Given the description of an element on the screen output the (x, y) to click on. 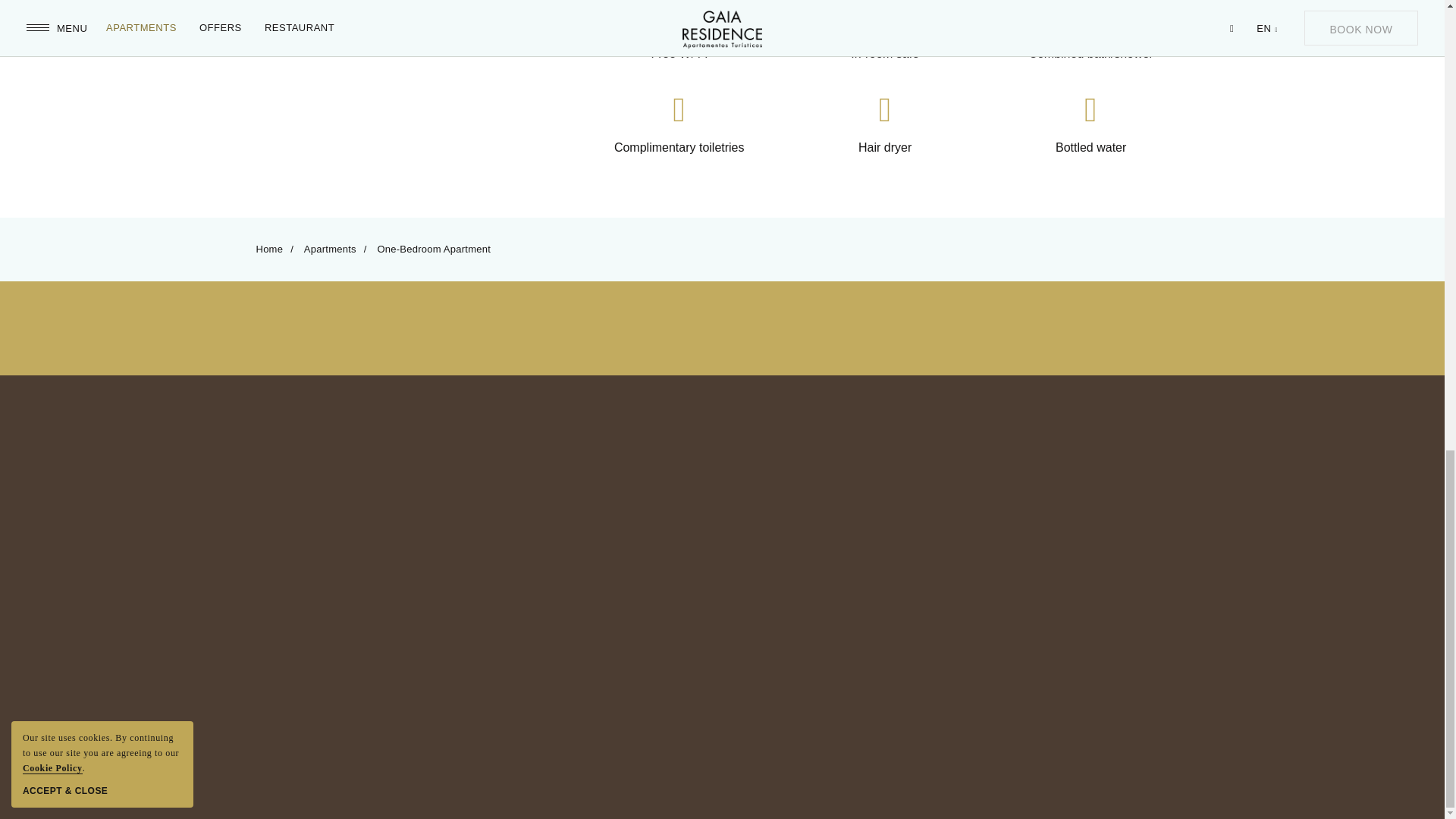
Amenities (374, 78)
Gaia Residence (722, 453)
